Given the description of an element on the screen output the (x, y) to click on. 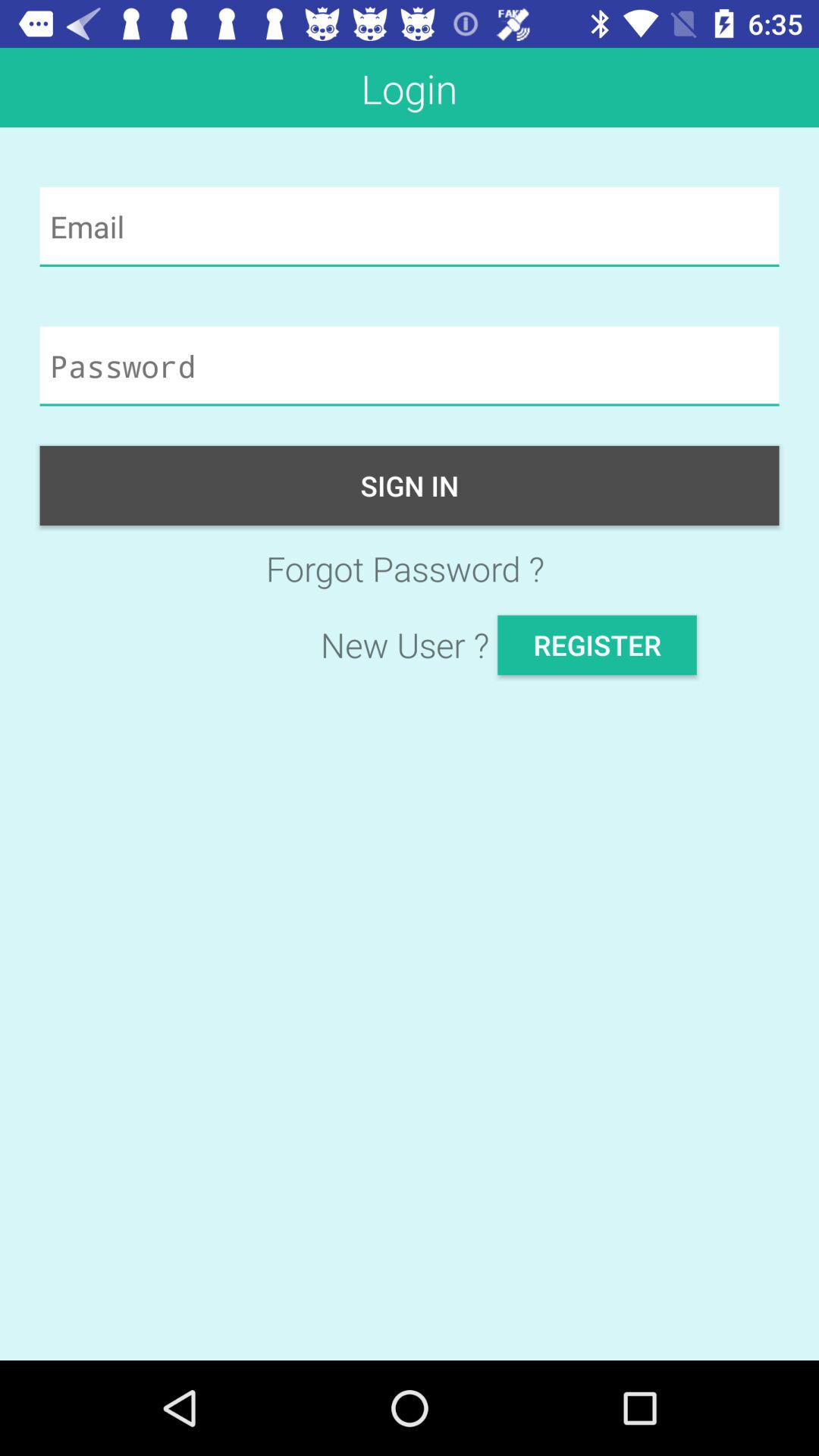
jump to the register (596, 645)
